Given the description of an element on the screen output the (x, y) to click on. 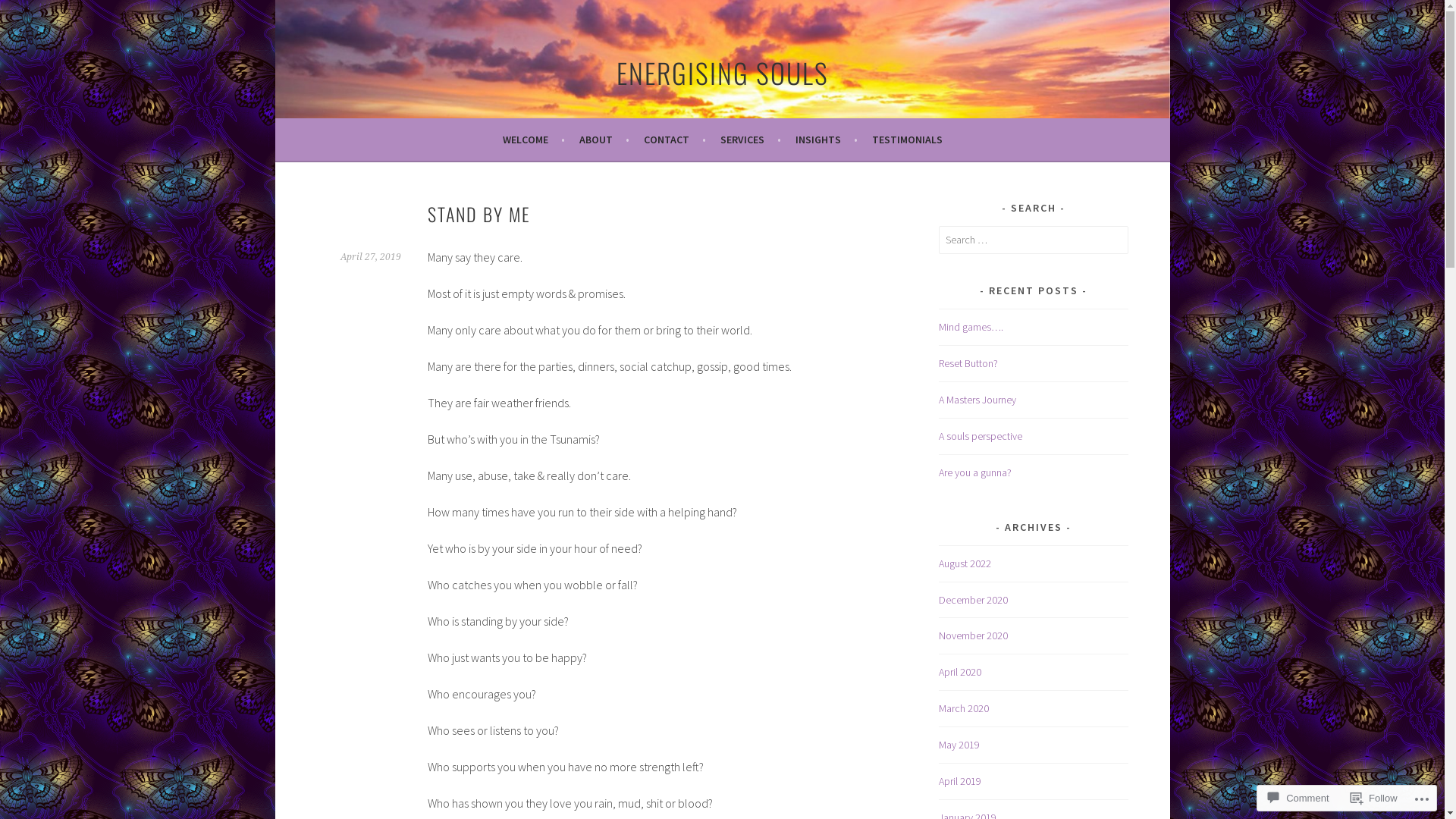
April 2019 Element type: text (959, 780)
TESTIMONIALS Element type: text (907, 139)
Search Element type: text (27, 13)
A souls perspective Element type: text (980, 435)
INSIGHTS Element type: text (825, 139)
Are you a gunna? Element type: text (974, 472)
April 2020 Element type: text (959, 671)
WELCOME Element type: text (533, 139)
A Masters Journey Element type: text (977, 399)
ENERGISING SOULS Element type: text (721, 72)
Comment Element type: text (1297, 797)
ABOUT Element type: text (604, 139)
August 2022 Element type: text (964, 563)
Follow Element type: text (1373, 797)
Reset Button? Element type: text (967, 363)
December 2020 Element type: text (972, 599)
May 2019 Element type: text (958, 744)
November 2020 Element type: text (972, 635)
SERVICES Element type: text (750, 139)
March 2020 Element type: text (963, 708)
April 27, 2019 Element type: text (369, 256)
CONTACT Element type: text (674, 139)
